Given the description of an element on the screen output the (x, y) to click on. 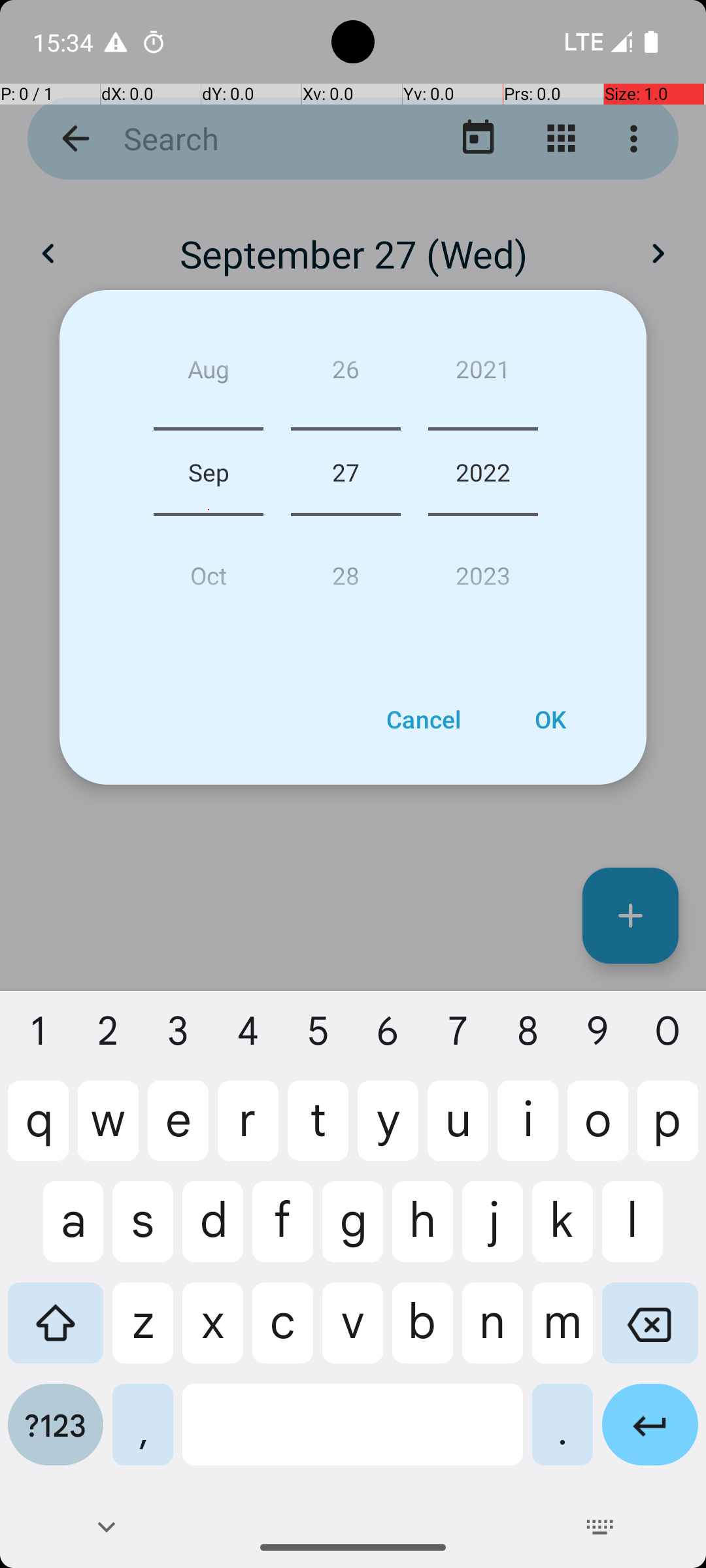
Aug Element type: android.widget.Button (208, 373)
2021 Element type: android.widget.Button (482, 373)
2022 Element type: android.widget.EditText (482, 471)
